Given the description of an element on the screen output the (x, y) to click on. 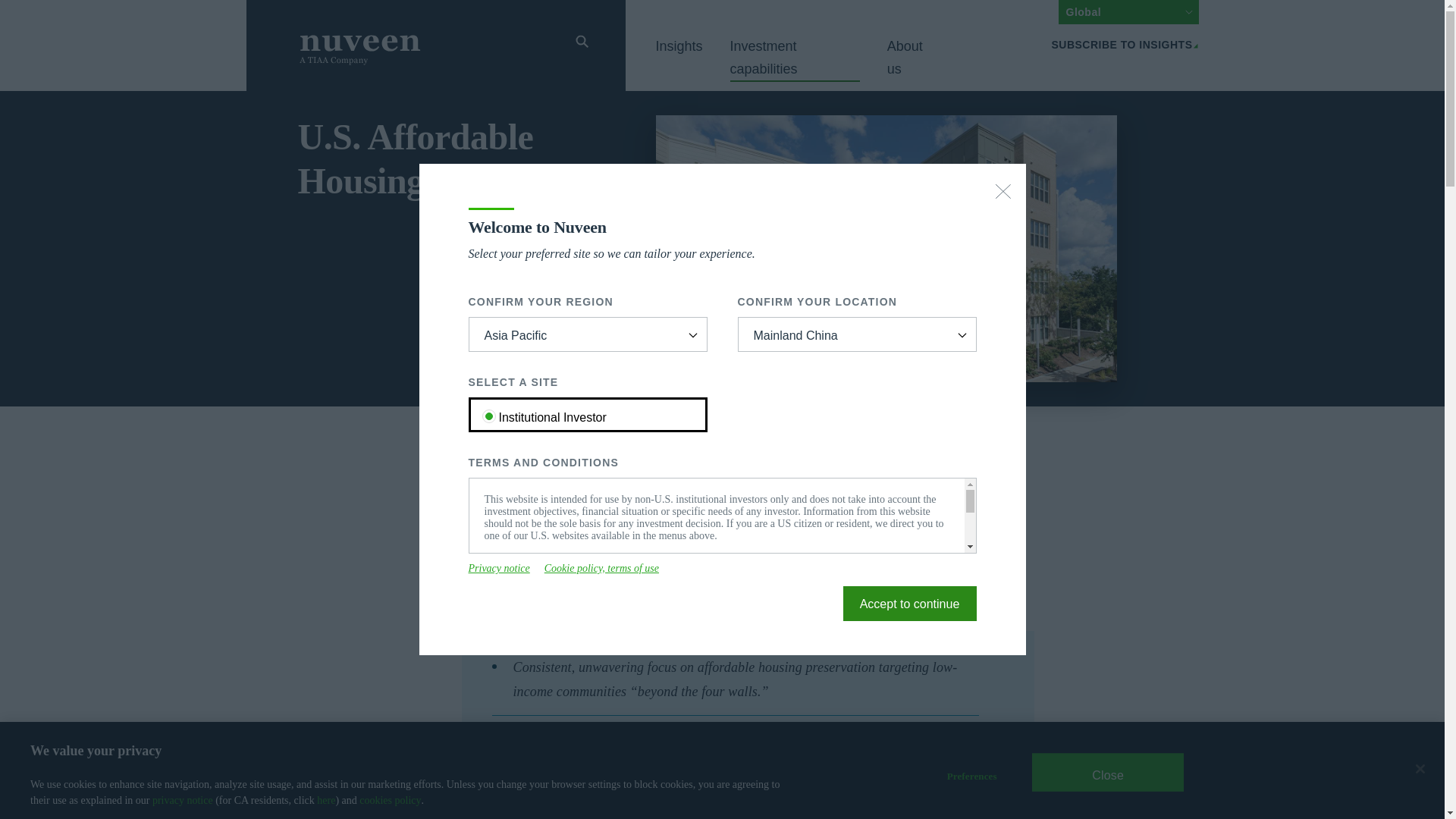
opens in a new window (601, 568)
Privacy notice (498, 568)
opens in the same window (909, 603)
SUBSCRIBE TO INSIGHTS (1124, 44)
Cookie policy, terms of use (601, 568)
opens in a new window (498, 568)
Skip to main content (236, 9)
Global (1128, 12)
